Given the description of an element on the screen output the (x, y) to click on. 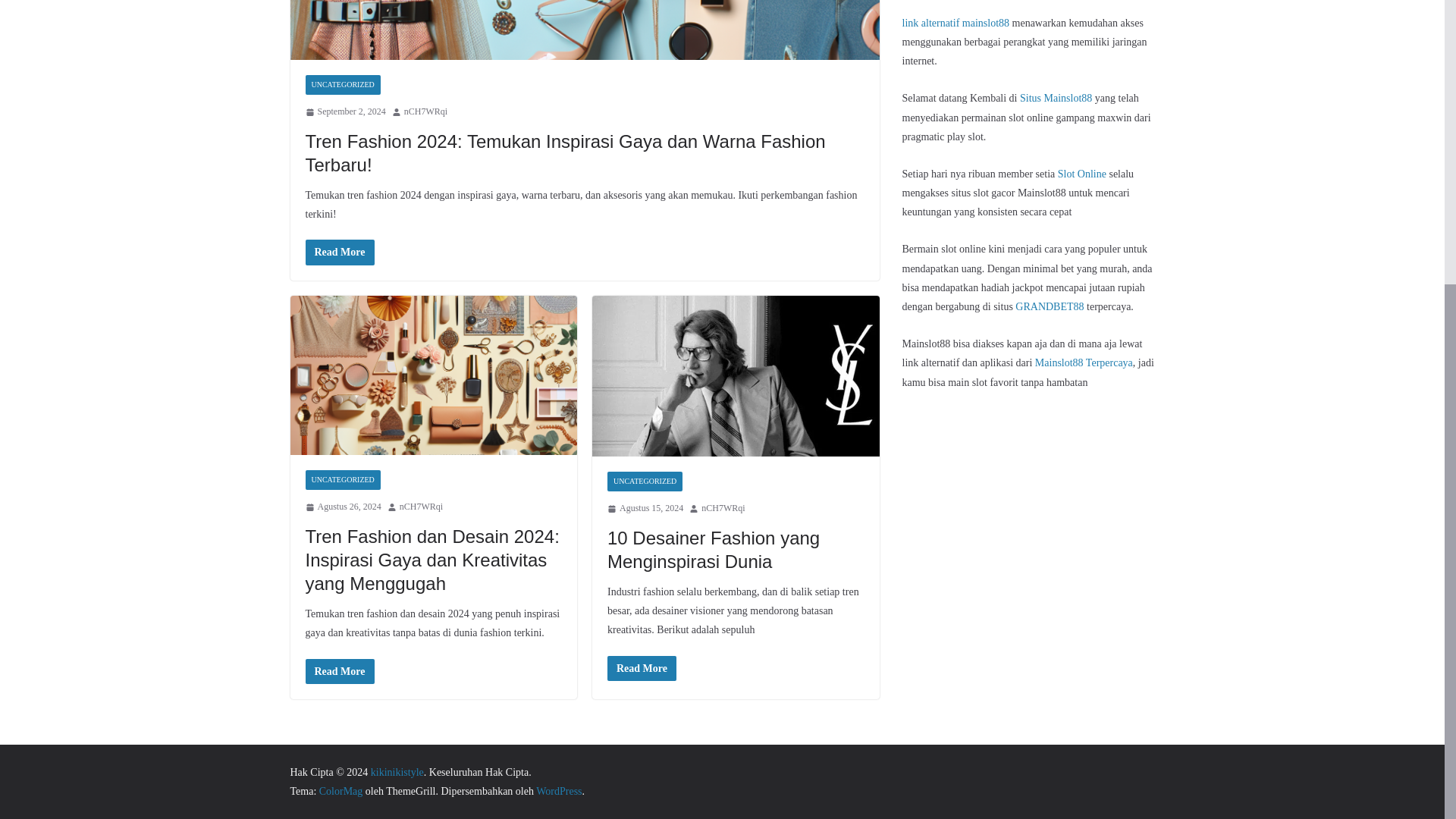
ColorMag (340, 790)
10:51 pm (344, 112)
September 2, 2024 (344, 112)
Situs Mainslot88 (1056, 98)
Agustus 26, 2024 (342, 506)
link alternatif mainslot88 (956, 22)
WordPress (557, 790)
3:53 pm (644, 508)
